Given the description of an element on the screen output the (x, y) to click on. 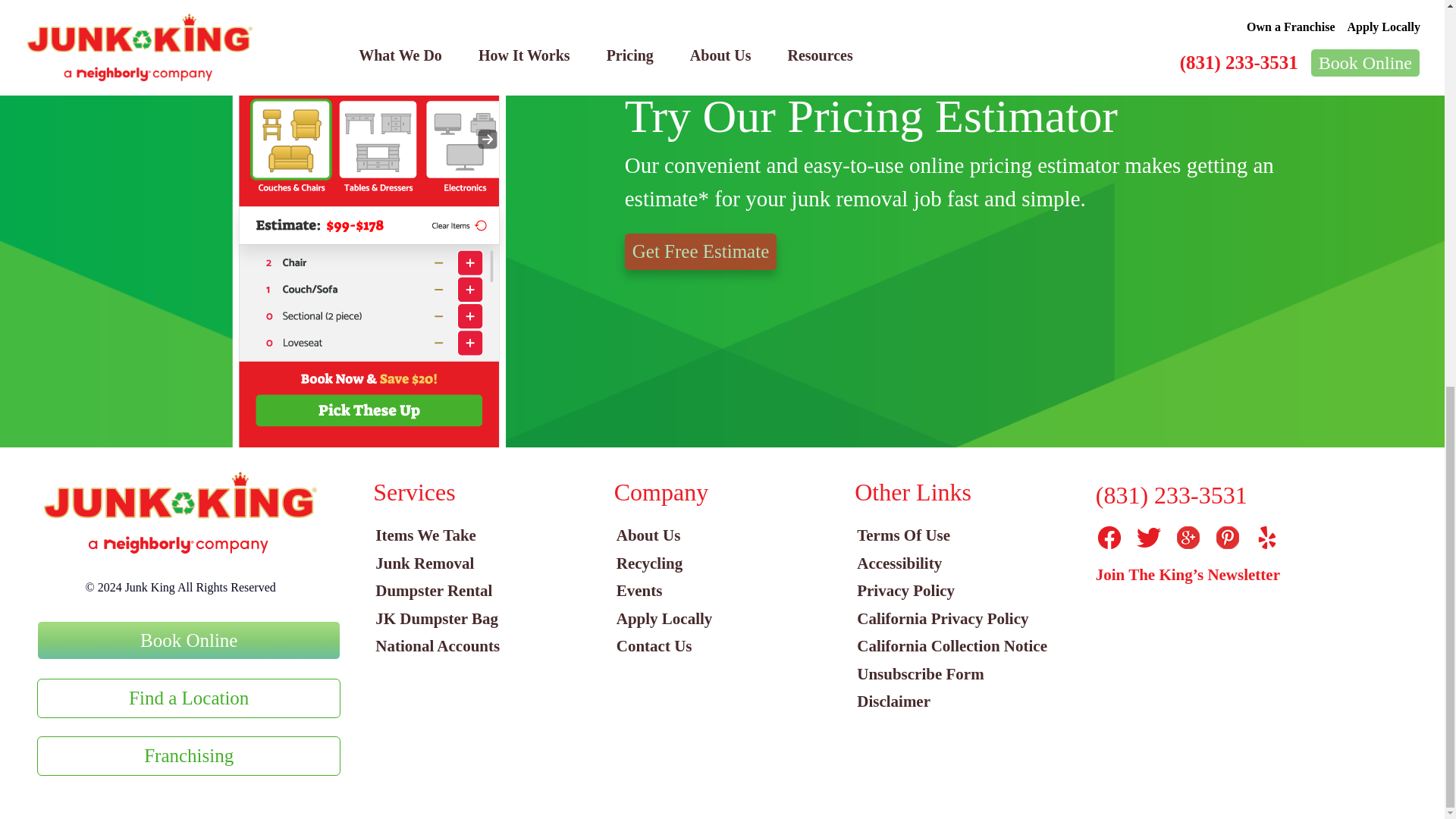
Facebook (1109, 537)
Twitter (1148, 537)
logo (180, 512)
